Given the description of an element on the screen output the (x, y) to click on. 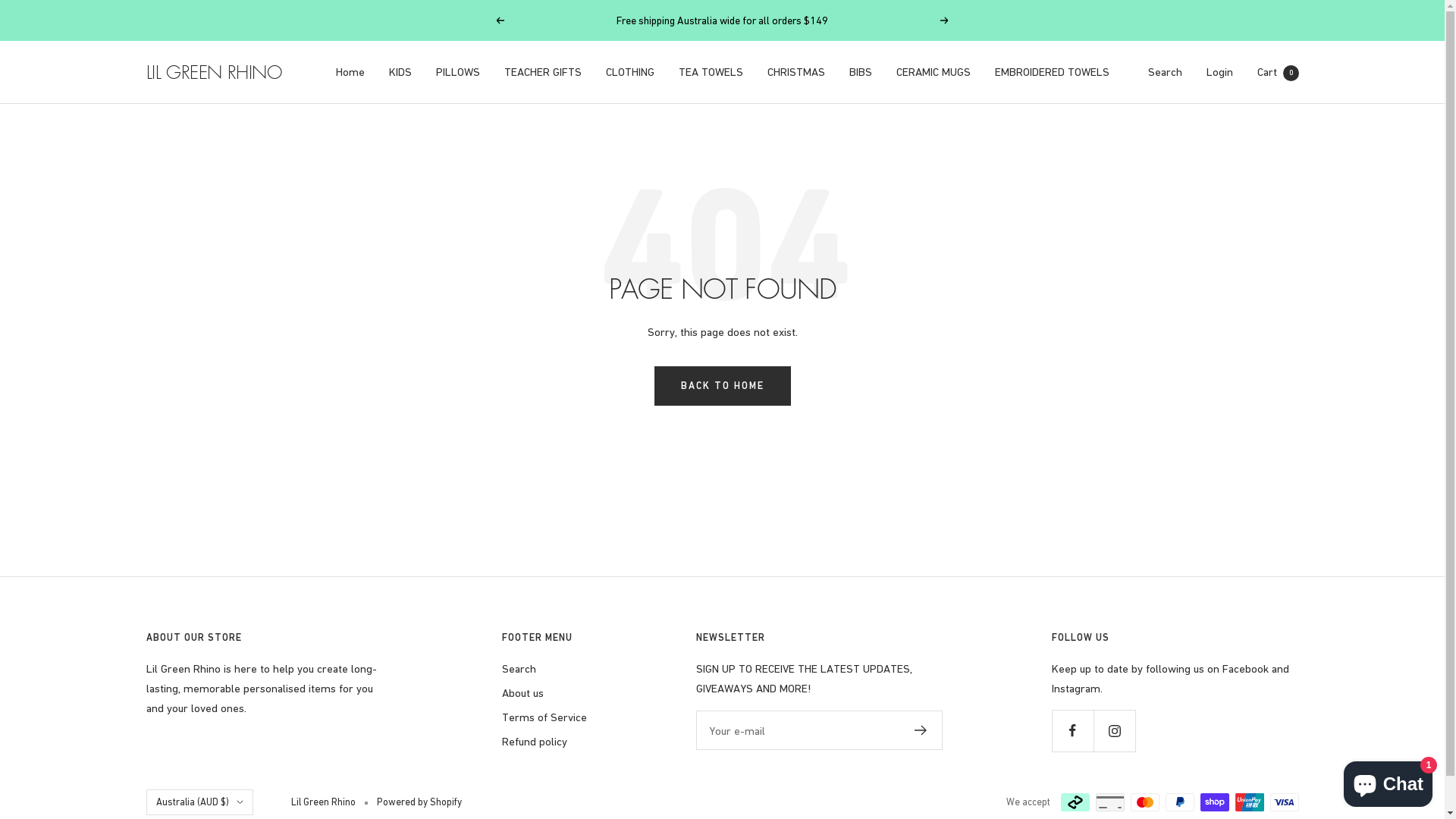
CZ Element type: text (233, 716)
KIDS Element type: text (399, 71)
CY Element type: text (233, 697)
Search Element type: text (1165, 71)
FO Element type: text (233, 773)
About us Element type: text (522, 692)
AU Element type: text (233, 564)
BIBS Element type: text (860, 71)
BACK TO HOME Element type: text (721, 385)
Shopify online store chat Element type: hover (1388, 780)
Search Element type: text (519, 668)
CERAMIC MUGS Element type: text (933, 71)
FI Element type: text (233, 792)
Refund policy Element type: text (534, 741)
Previous Element type: text (499, 20)
Next Element type: text (944, 20)
CHRISTMAS Element type: text (796, 71)
Australia (AUD $) Element type: text (198, 802)
LIL GREEN RHINO Element type: text (213, 71)
BV Element type: text (233, 659)
TEACHER GIFTS Element type: text (541, 71)
BY Element type: text (233, 602)
AL Element type: text (233, 507)
DK Element type: text (233, 735)
AX Element type: text (233, 488)
AD Element type: text (233, 526)
PILLOWS Element type: text (457, 71)
Login Element type: text (1218, 71)
Home Element type: text (349, 71)
Cart
0 Element type: text (1278, 71)
Register Element type: hover (920, 729)
FR Element type: text (233, 811)
AT Element type: text (233, 583)
EMBROIDERED TOWELS Element type: text (1051, 71)
Terms of Service Element type: text (544, 717)
TEA TOWELS Element type: text (709, 71)
HR Element type: text (233, 678)
BE Element type: text (233, 621)
Powered by Shopify Element type: text (418, 801)
CLOTHING Element type: text (629, 71)
AM Element type: text (233, 545)
BA Element type: text (233, 640)
EE Element type: text (233, 754)
